Given the description of an element on the screen output the (x, y) to click on. 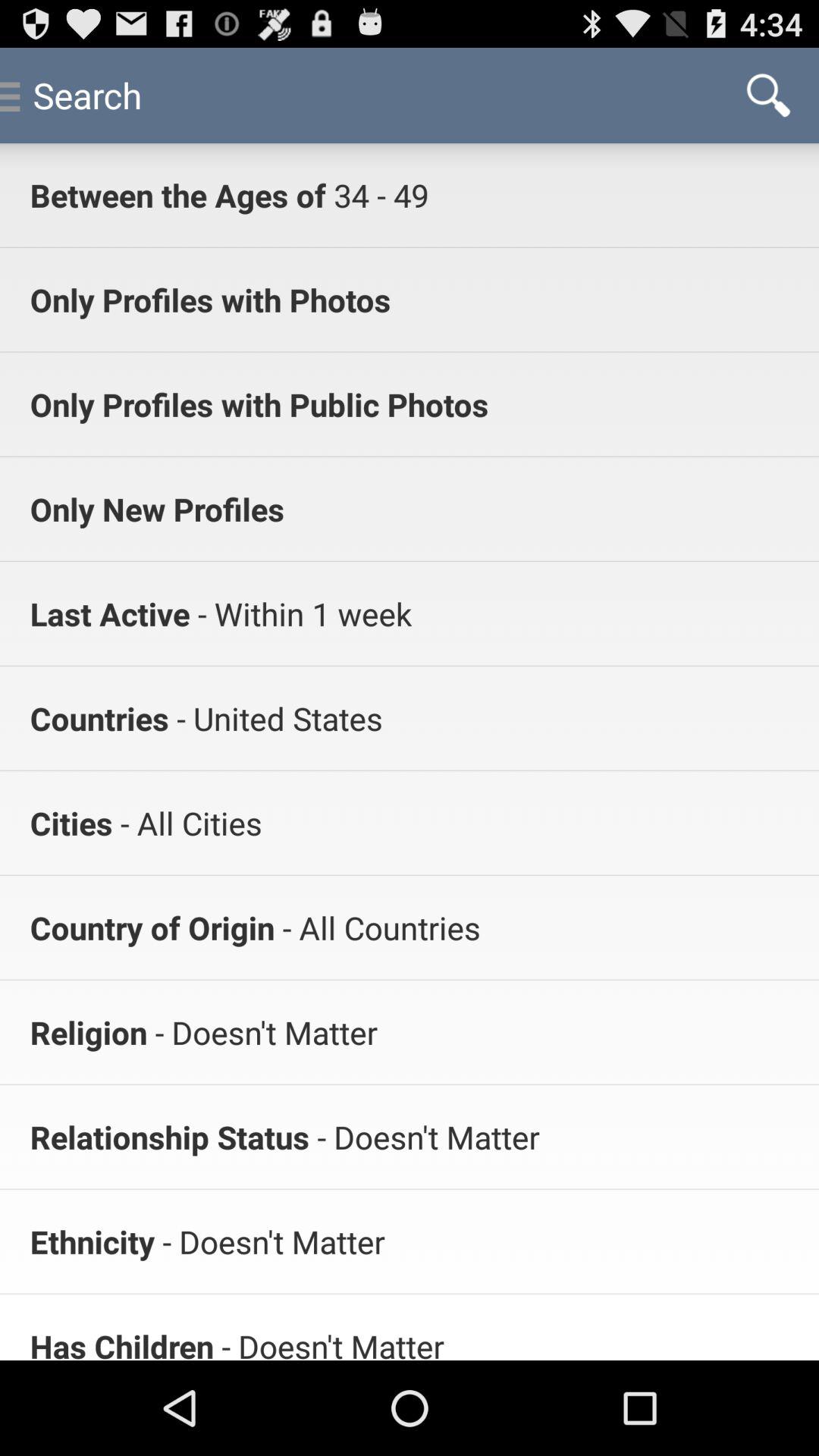
scroll until the country of origin icon (152, 927)
